Given the description of an element on the screen output the (x, y) to click on. 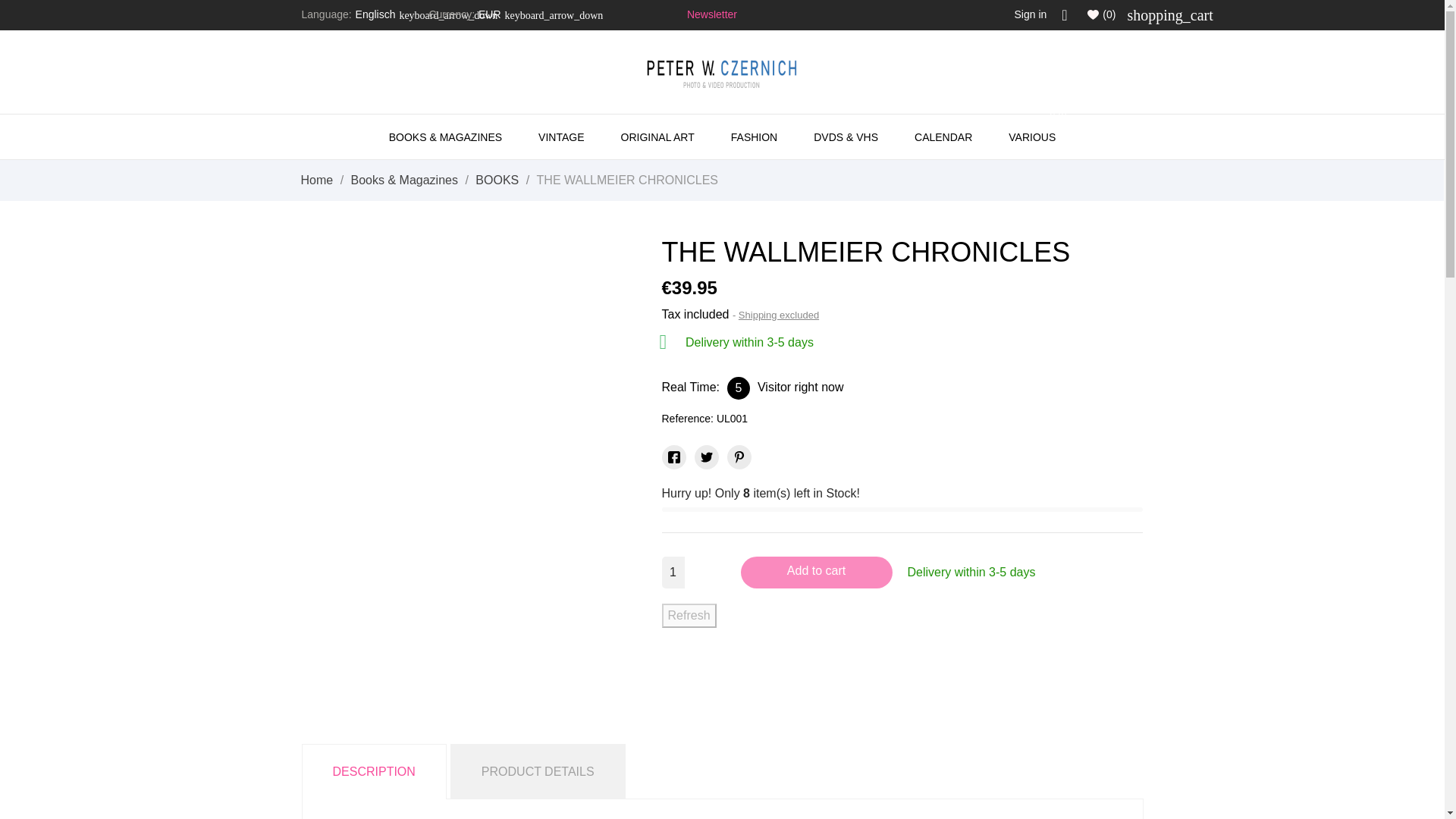
Log in to your customer account (1030, 14)
FASHION (753, 136)
My wishlist (1101, 14)
ORIGINAL ART (657, 136)
Newsletter (711, 14)
Refresh (688, 615)
CALENDAR (1032, 136)
VINTAGE (943, 136)
Sign in (560, 136)
